Given the description of an element on the screen output the (x, y) to click on. 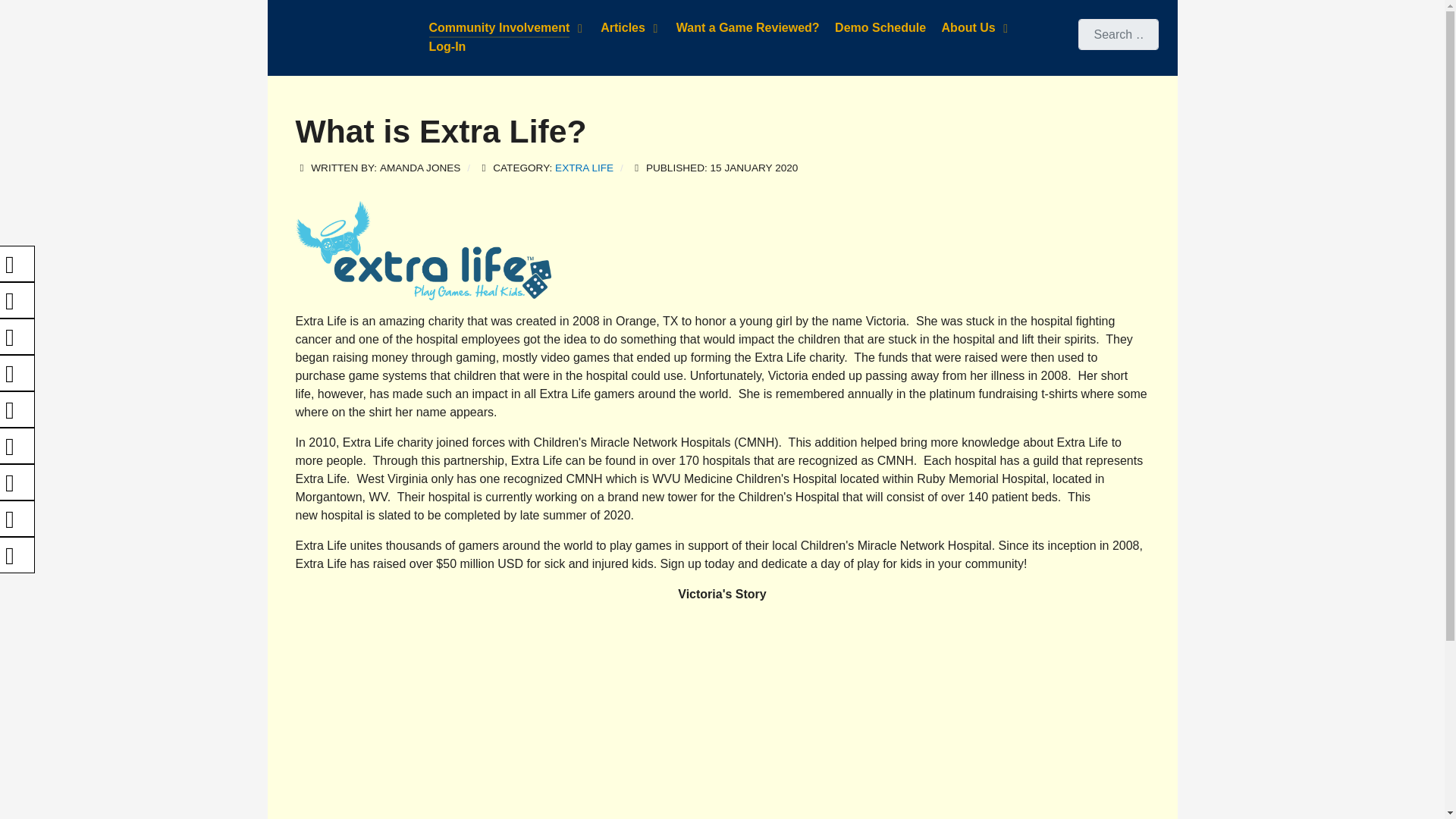
Log-In (447, 47)
Instagram (17, 372)
BGG (17, 409)
Youtube (17, 336)
TikTok (17, 482)
RSS Feed (17, 555)
Facebook (17, 263)
Want a Game Reviewed? (748, 28)
Twitch (17, 445)
Demo Schedule (880, 28)
EXTRA LIFE (583, 168)
Twitter (17, 299)
LinkedIn (17, 518)
